Given the description of an element on the screen output the (x, y) to click on. 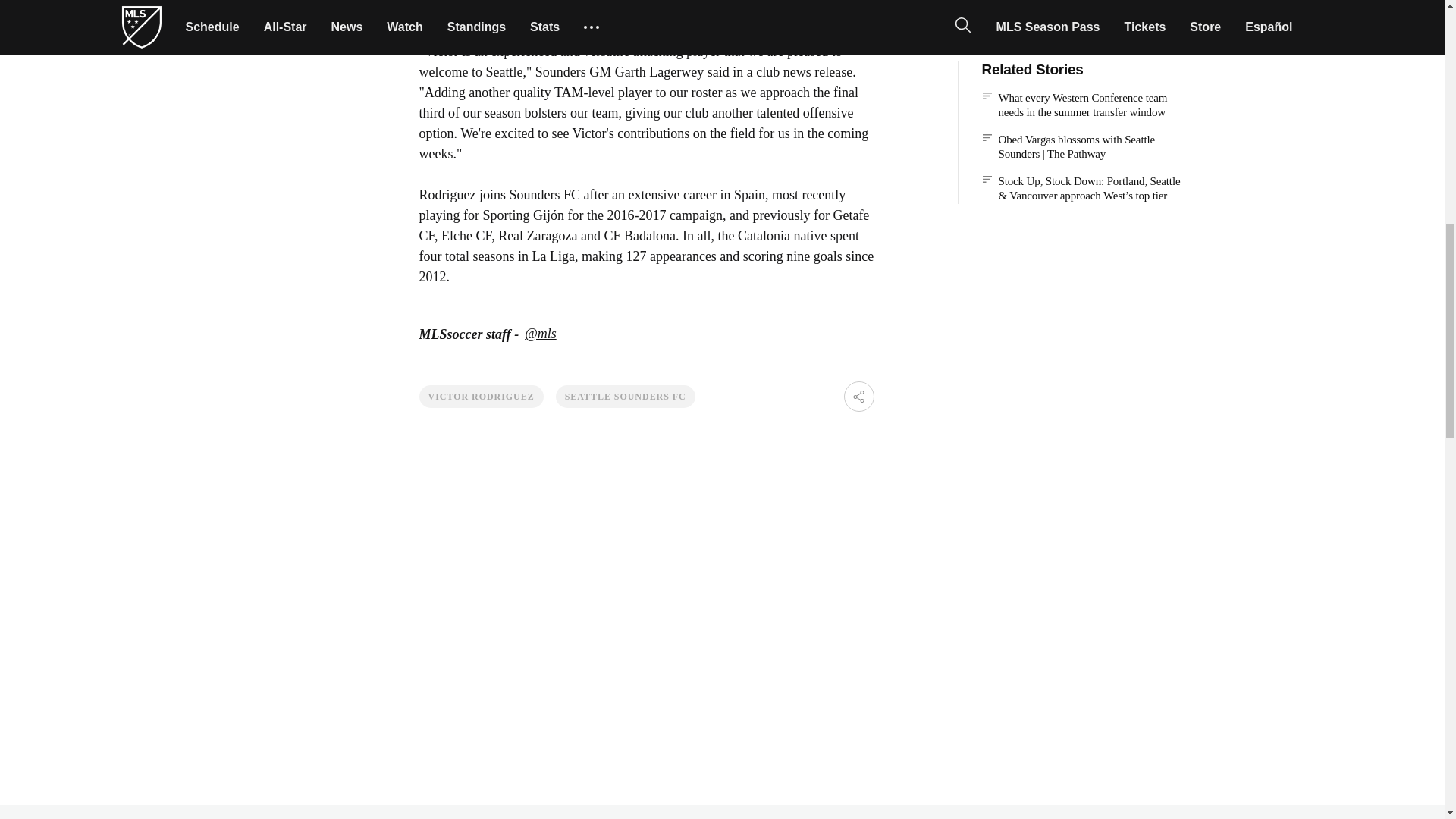
Go to the Twitter profile (540, 334)
